Given the description of an element on the screen output the (x, y) to click on. 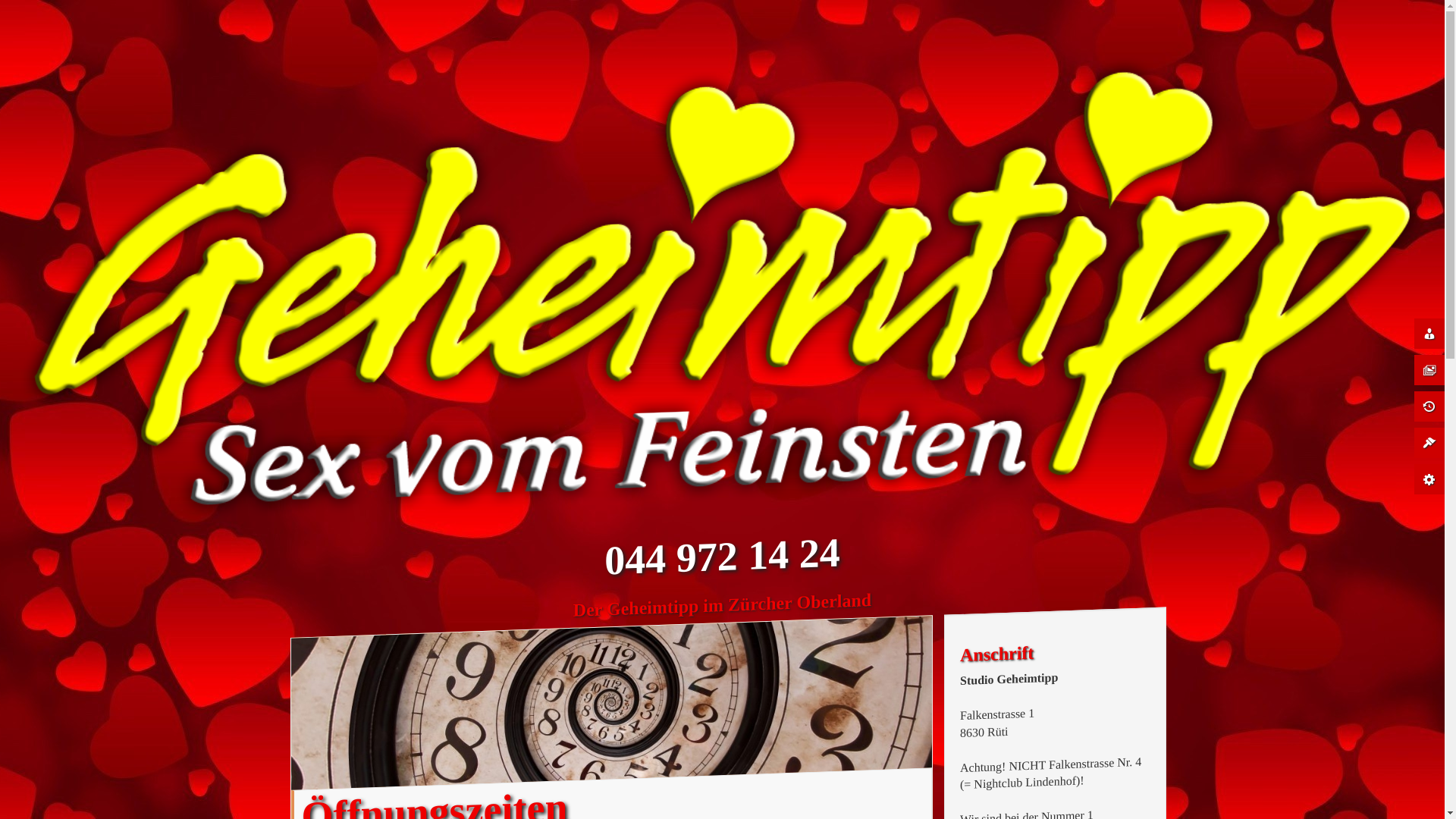
044 972 14 24 Element type: text (722, 552)
